Given the description of an element on the screen output the (x, y) to click on. 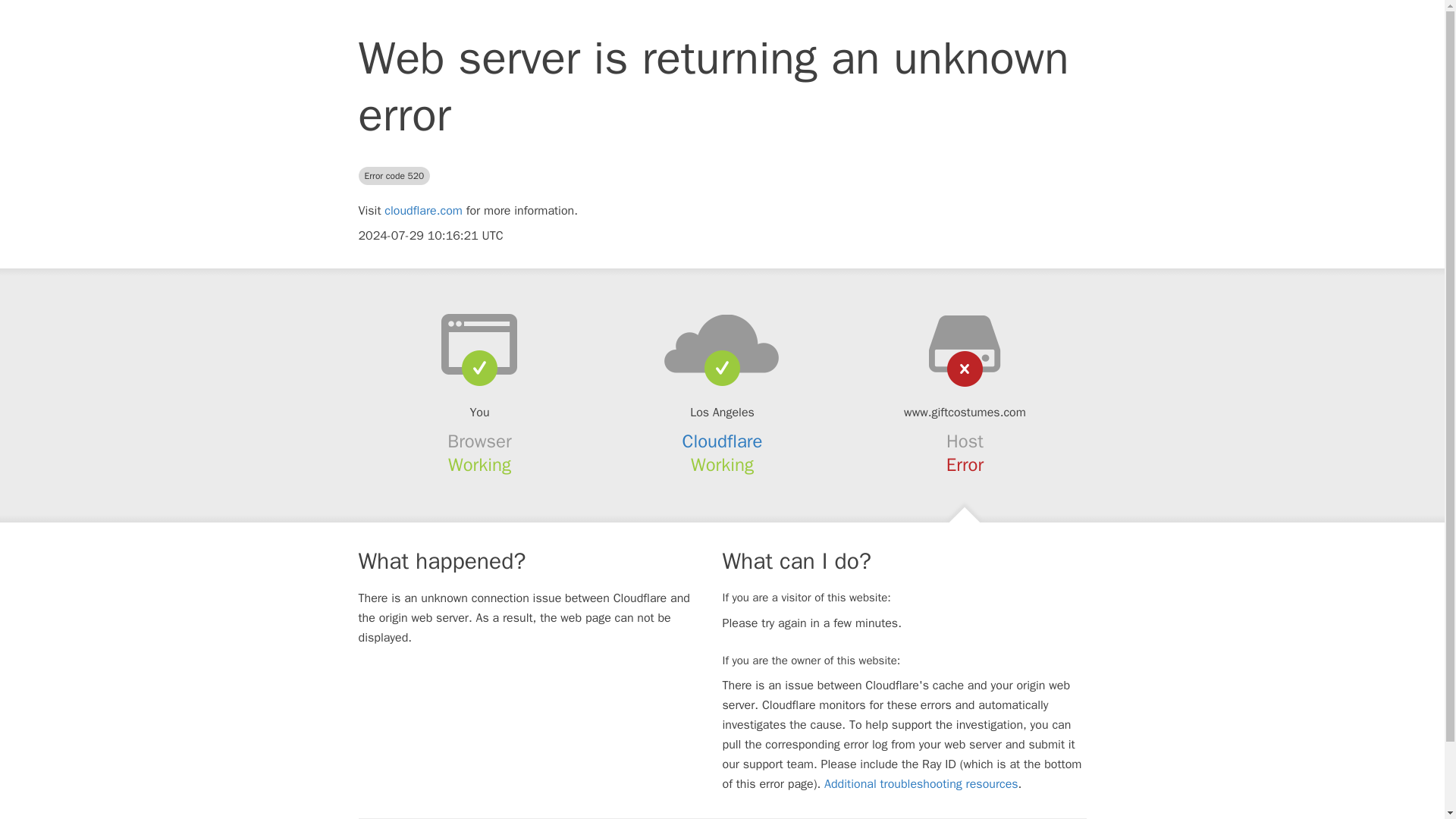
Additional troubleshooting resources (920, 783)
Cloudflare (722, 440)
cloudflare.com (423, 210)
